Given the description of an element on the screen output the (x, y) to click on. 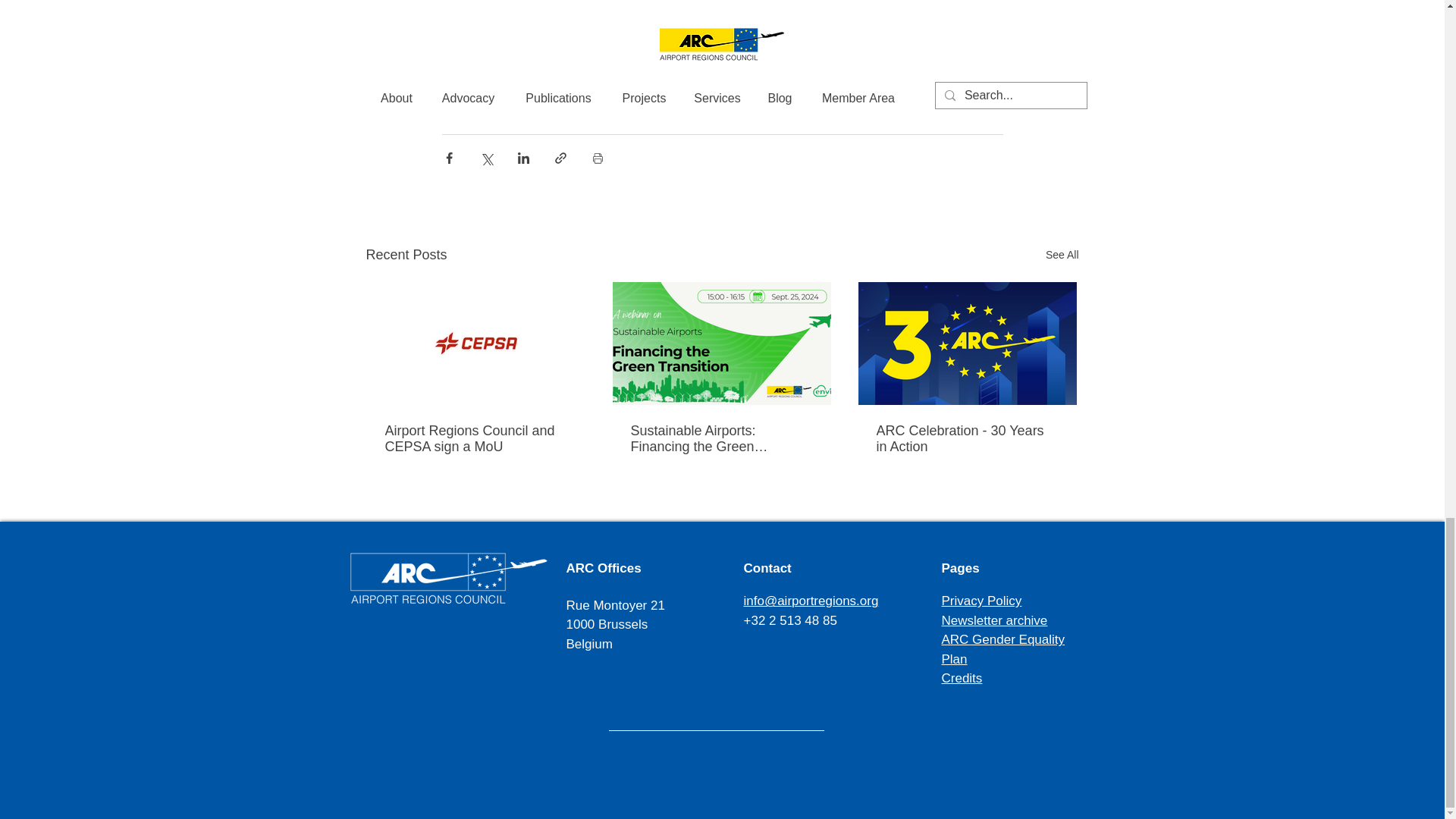
ARC Celebration - 30 Years in Action (967, 439)
Newsletter archive (995, 620)
See All (1061, 255)
Credits (962, 677)
Airport Regions Council and CEPSA sign a MoU (476, 439)
Privacy Policy (982, 600)
Sustainable Airports: Financing the Green Transition (721, 439)
ARC Gender Equality Plan (1003, 649)
